Given the description of an element on the screen output the (x, y) to click on. 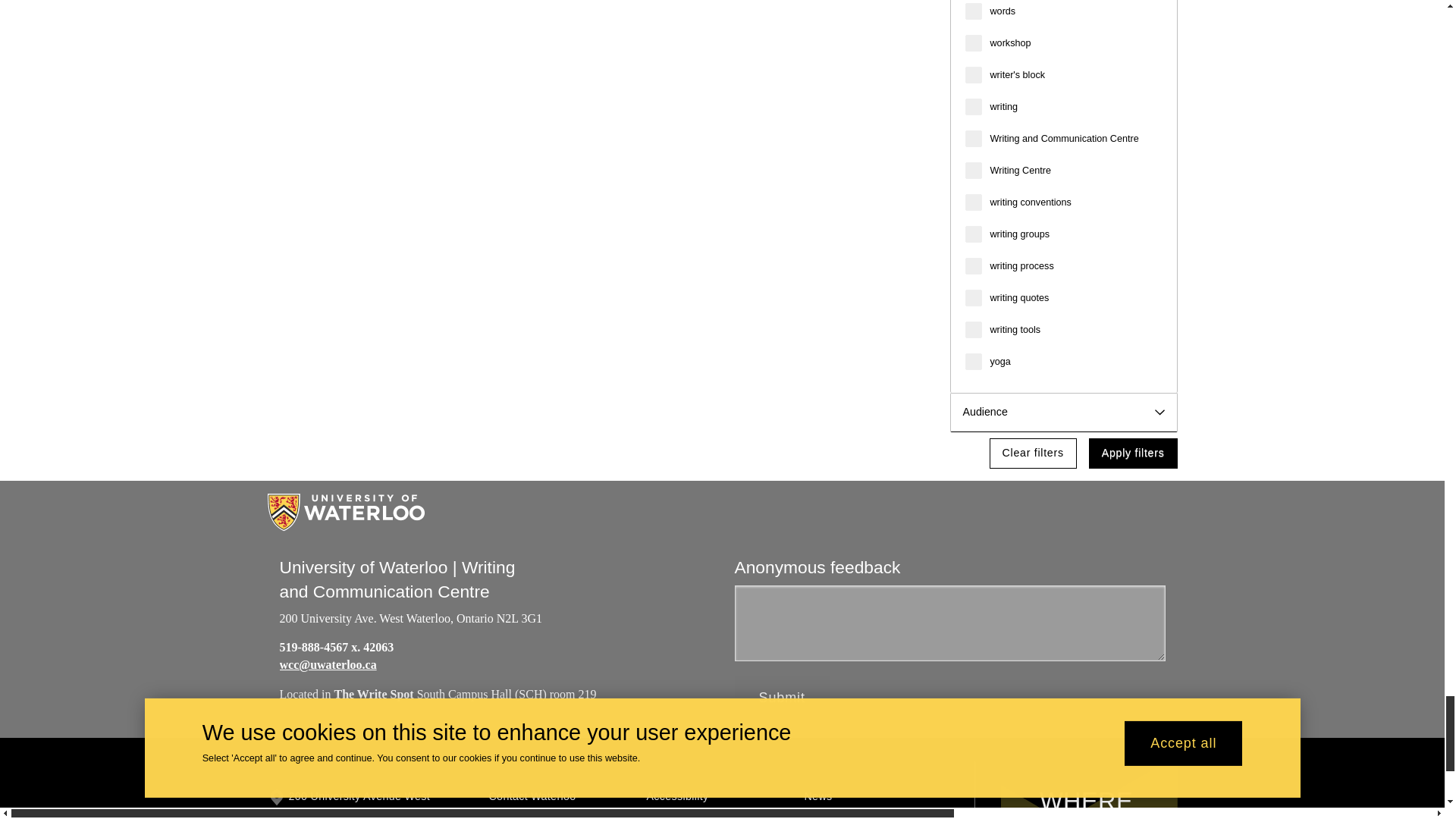
Clear filters (1033, 453)
Clear filters (1033, 453)
Apply filters (1133, 453)
Apply filters (1133, 453)
Submit (780, 698)
